Given the description of an element on the screen output the (x, y) to click on. 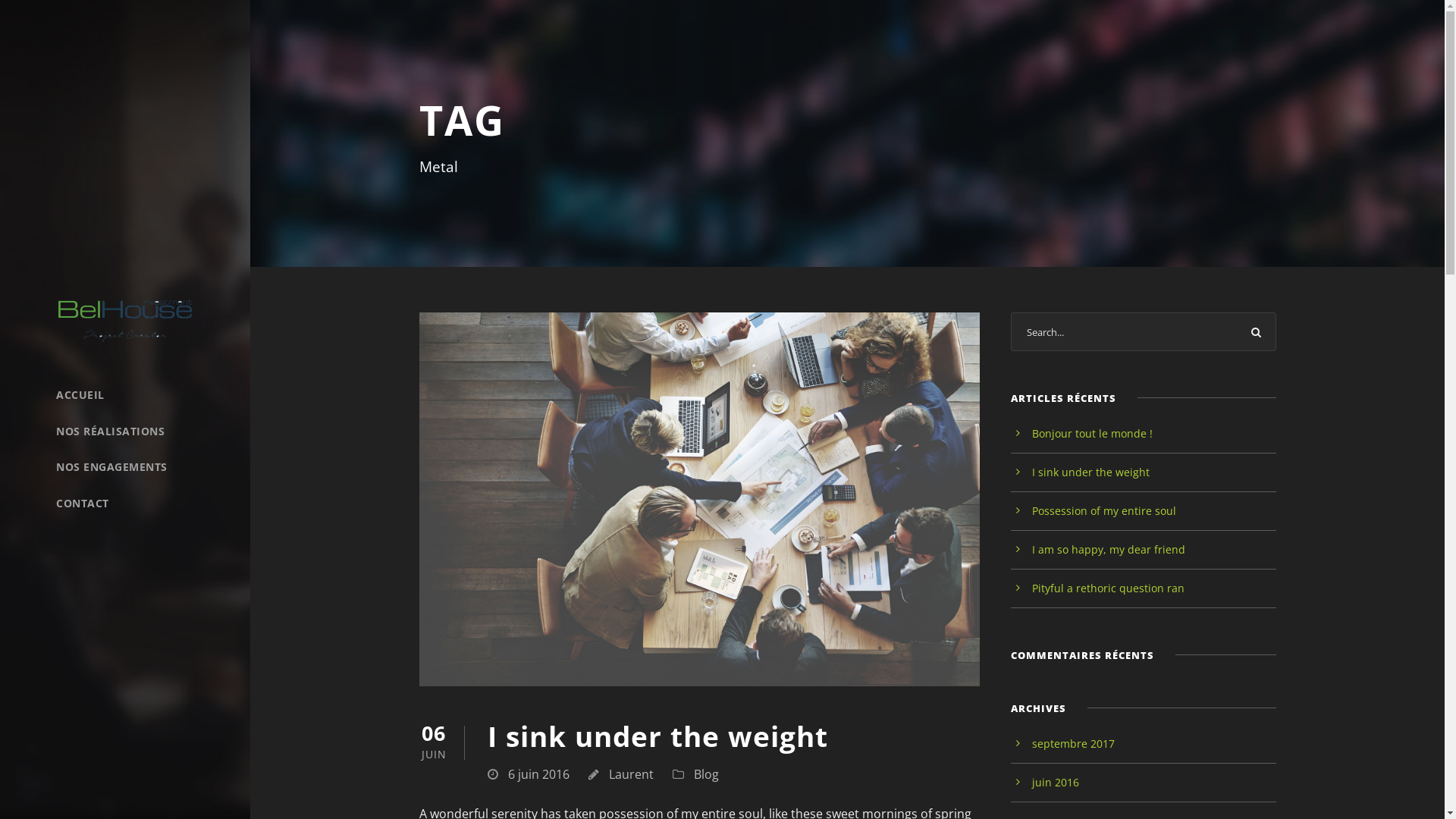
CONTACT Element type: text (125, 503)
ACCUEIL Element type: text (125, 394)
6 juin 2016 Element type: text (538, 773)
Pityful a rethoric question ran Element type: text (1108, 587)
I sink under the weight Element type: text (1090, 471)
Blog Element type: text (705, 773)
Search Element type: text (1256, 331)
juin 2016 Element type: text (1055, 782)
I am so happy, my dear friend Element type: text (1108, 549)
NOS ENGAGEMENTS Element type: text (125, 467)
I sink under the weight Element type: text (656, 735)
Laurent Element type: text (630, 773)
Possession of my entire soul Element type: text (1104, 510)
Bonjour tout le monde ! Element type: text (1092, 433)
septembre 2017 Element type: text (1073, 743)
